Given the description of an element on the screen output the (x, y) to click on. 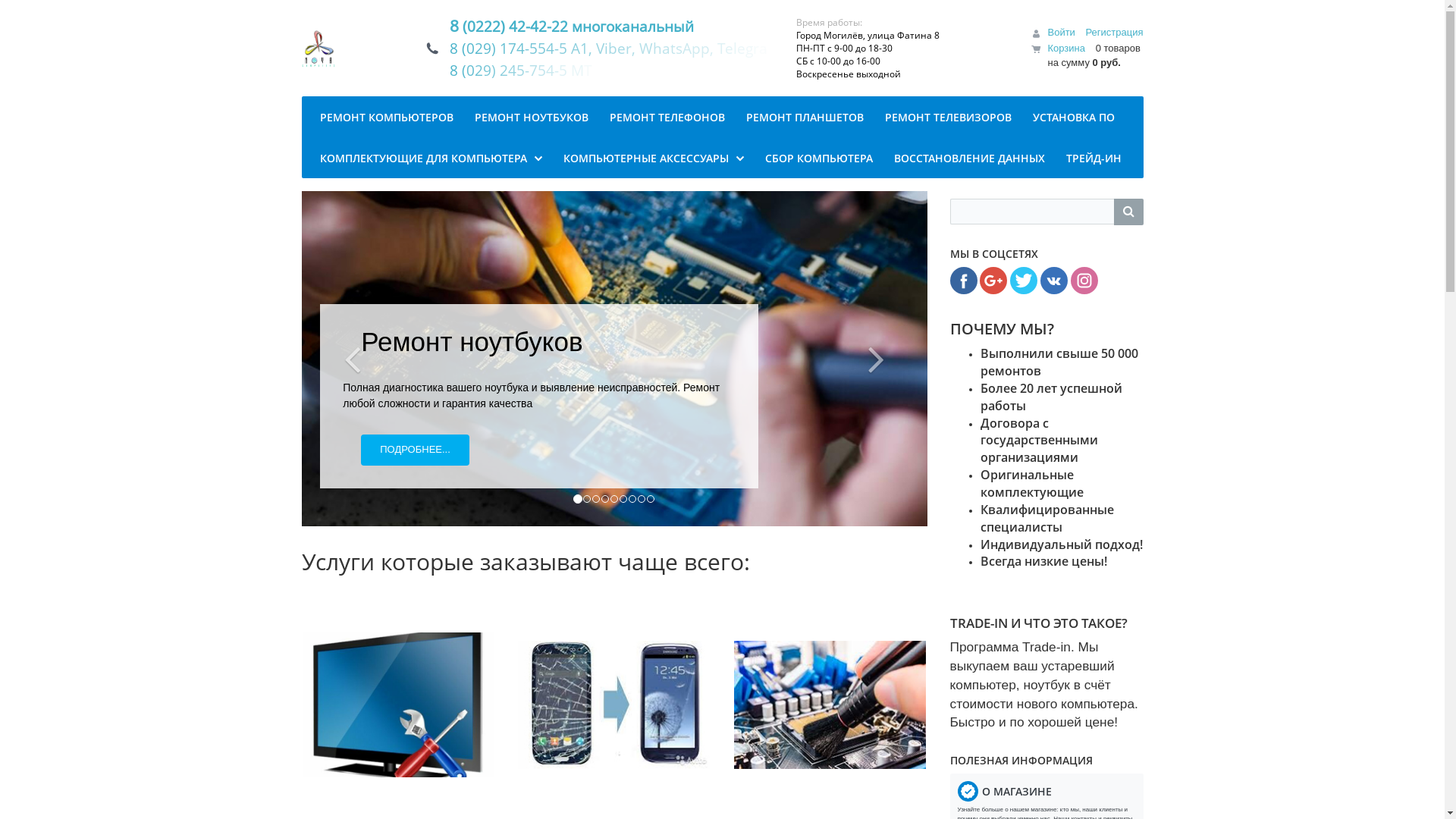
Nova 2.2.jpg Element type: hover (318, 47)
Nout Element type: hover (614, 358)
